Given the description of an element on the screen output the (x, y) to click on. 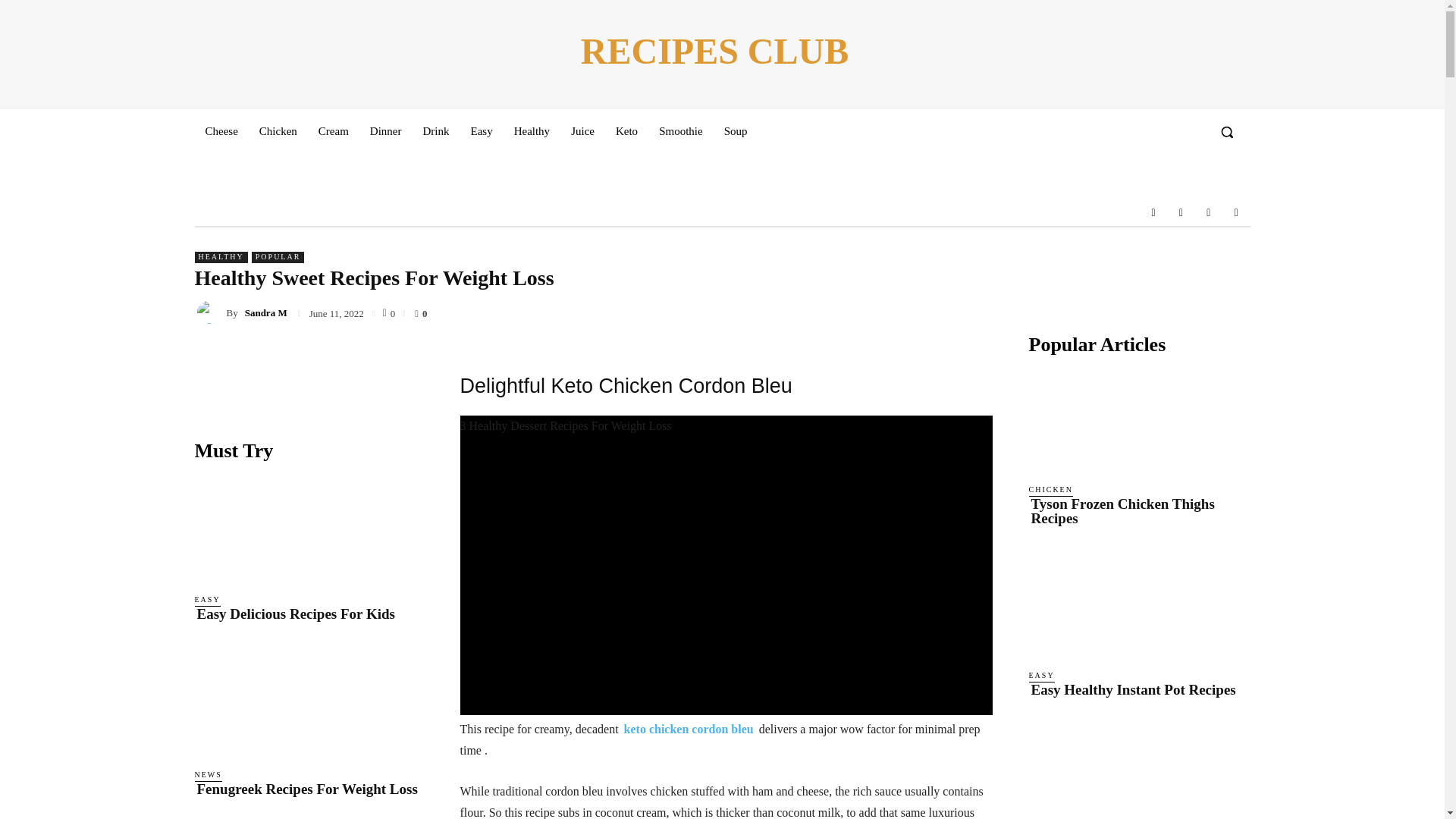
Youtube (1236, 212)
Dinner (385, 130)
Easy (481, 130)
Healthy (531, 130)
Juice (582, 130)
Drink (436, 130)
Soup (735, 130)
Cream (333, 130)
Chicken (277, 130)
RECIPES CLUB (713, 52)
